Given the description of an element on the screen output the (x, y) to click on. 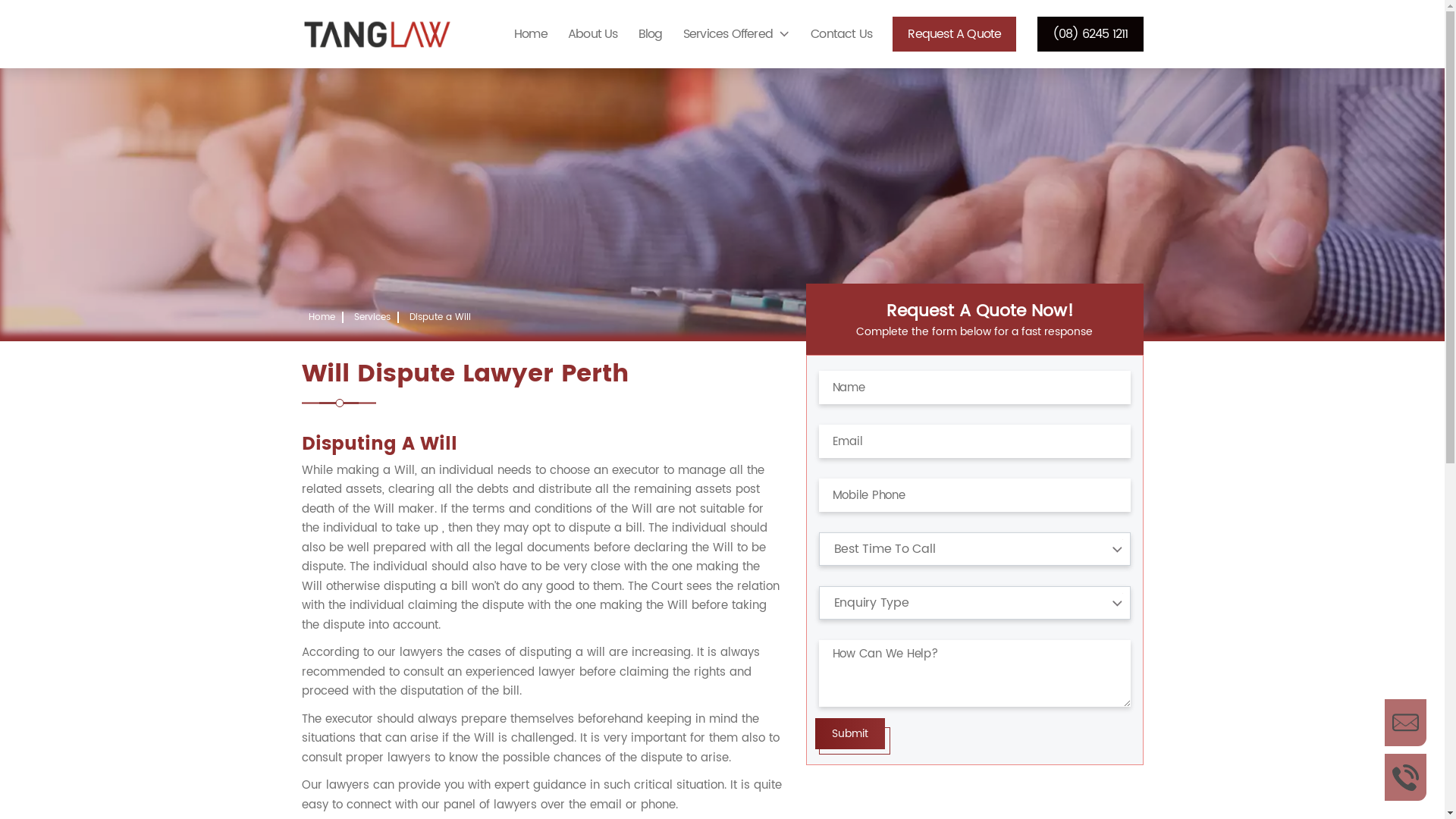
Services Offered Element type: text (736, 33)
Services Element type: text (371, 317)
Call Us Now Element type: text (1405, 776)
Submit Element type: text (849, 733)
About Us Element type: text (592, 33)
Request A Quote Element type: text (954, 33)
Contact Us Element type: text (841, 33)
Blog Element type: text (650, 33)
Home Element type: text (320, 317)
(08) 6245 1211 Element type: text (1090, 33)
Dispute a Will Element type: text (439, 317)
Enquire Now Element type: text (1405, 722)
Home Element type: text (530, 33)
